Given the description of an element on the screen output the (x, y) to click on. 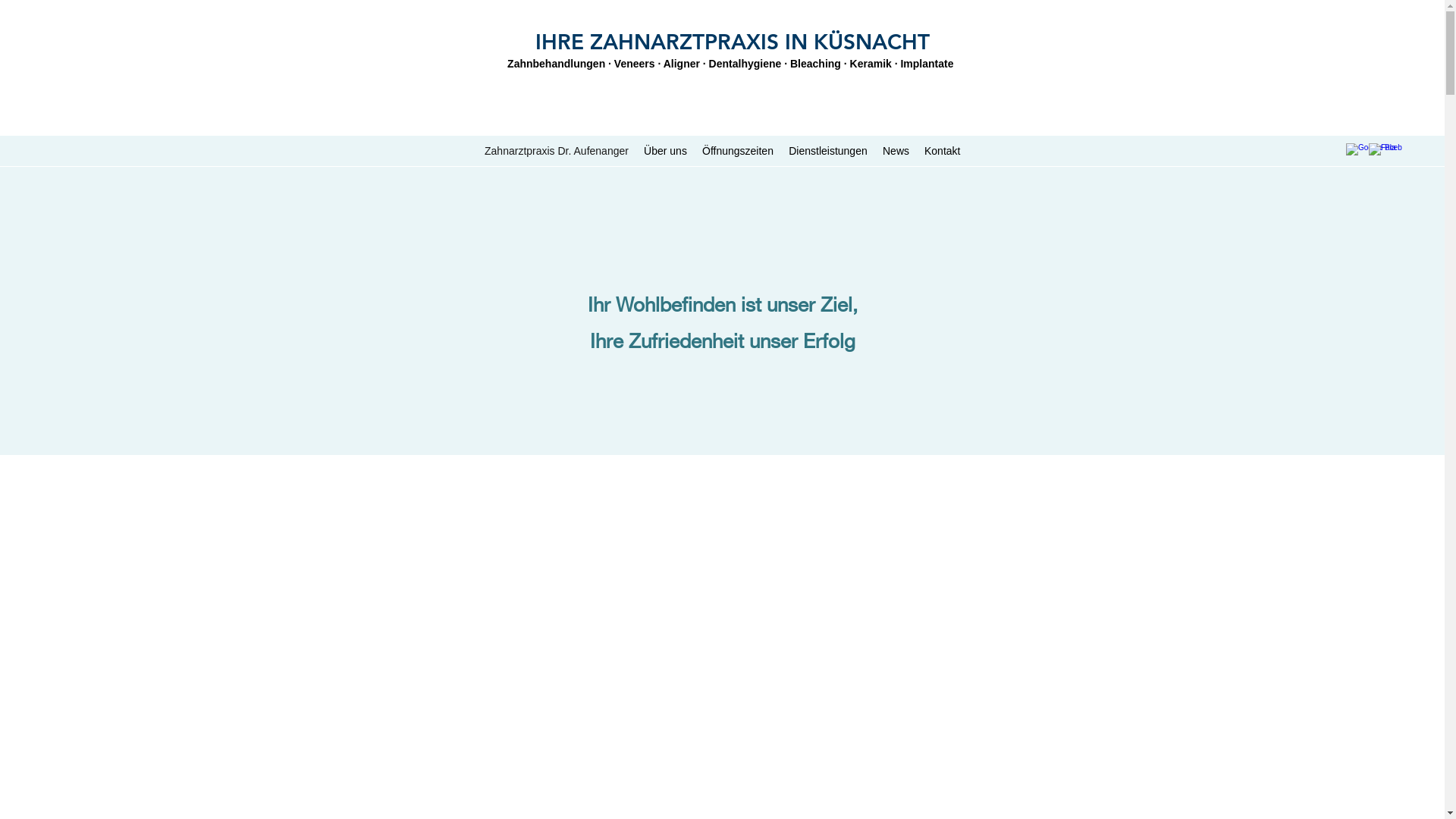
News Element type: text (895, 150)
Kontakt Element type: text (941, 150)
Zahnarztpraxis Dr. Aufenanger Element type: text (556, 150)
Dienstleistungen Element type: text (828, 150)
